Given the description of an element on the screen output the (x, y) to click on. 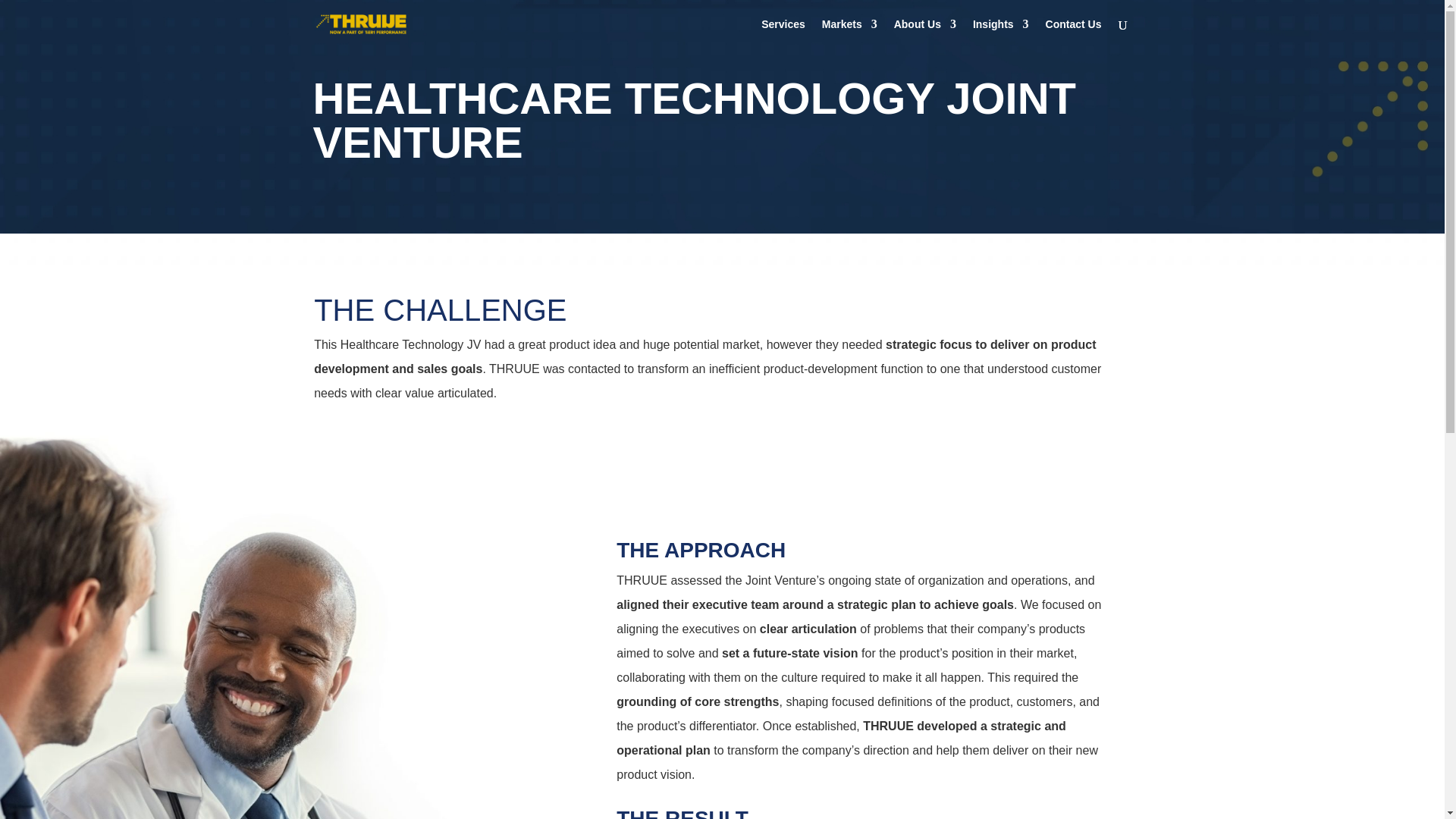
About Us (924, 33)
Services (783, 33)
Markets (849, 33)
Contact Us (1073, 33)
Insights (1000, 33)
